Given the description of an element on the screen output the (x, y) to click on. 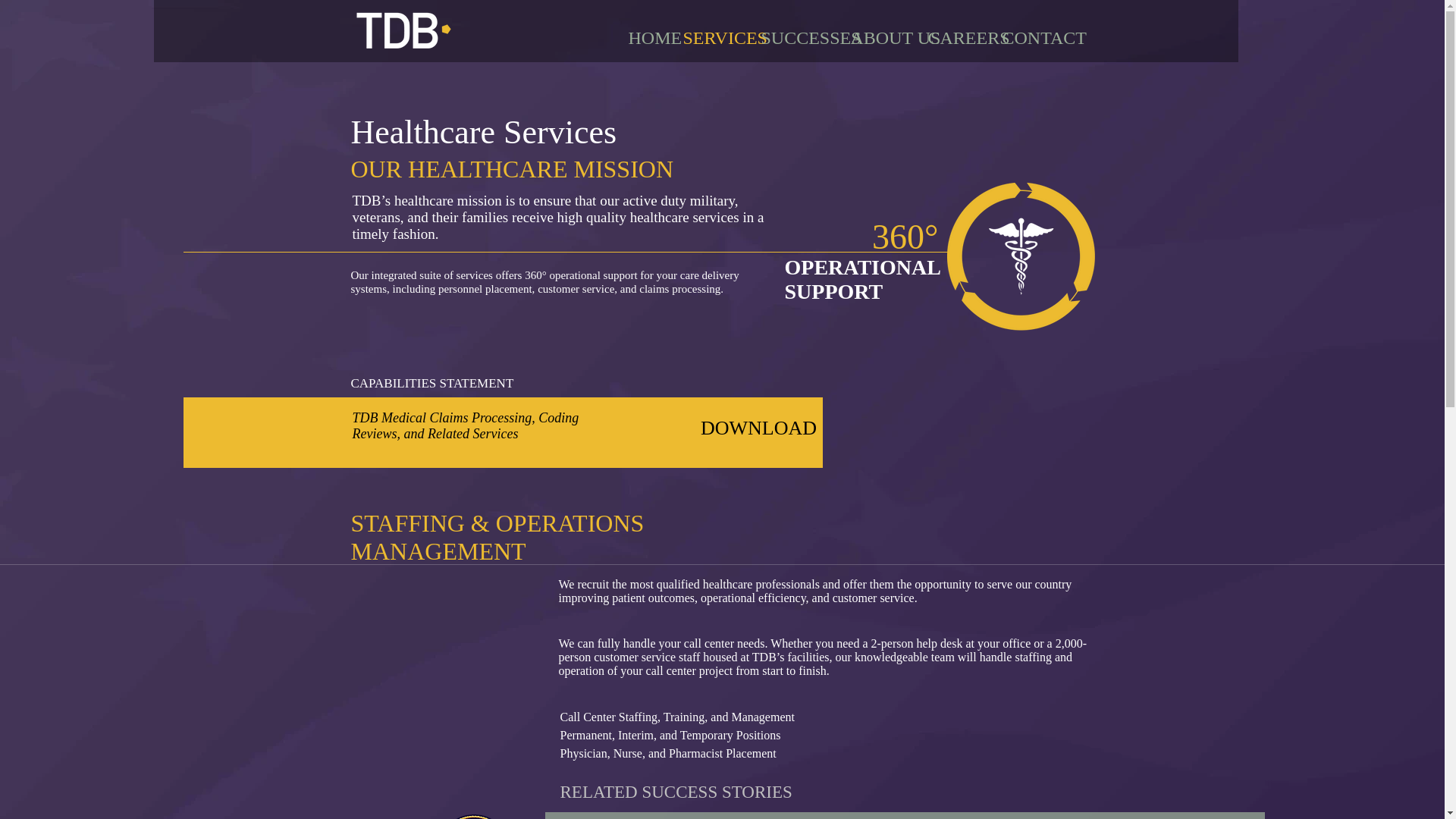
CAREERS (952, 37)
CONTACT (1026, 37)
HOME (644, 37)
SUCCESSES (793, 37)
SERVICES (710, 37)
